Given the description of an element on the screen output the (x, y) to click on. 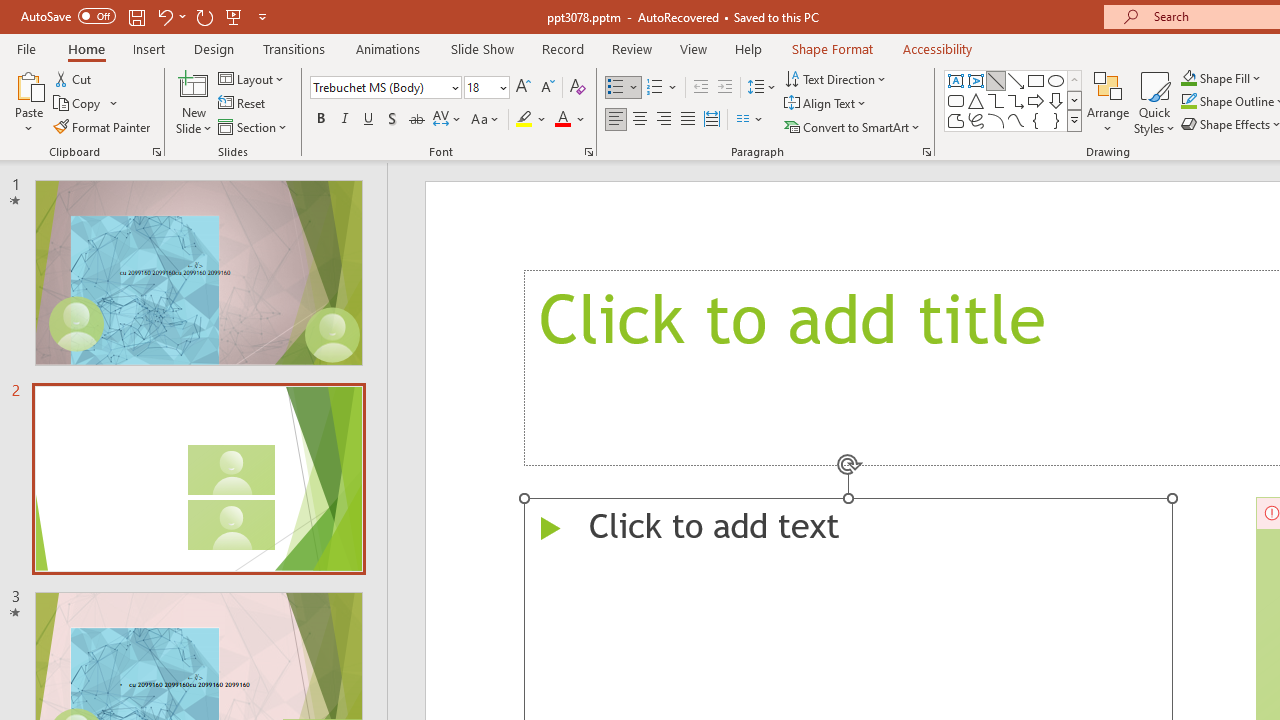
Line (995, 80)
Clear Formatting (577, 87)
Layout (252, 78)
Vertical Text Box (975, 80)
Shape Format (832, 48)
